Given the description of an element on the screen output the (x, y) to click on. 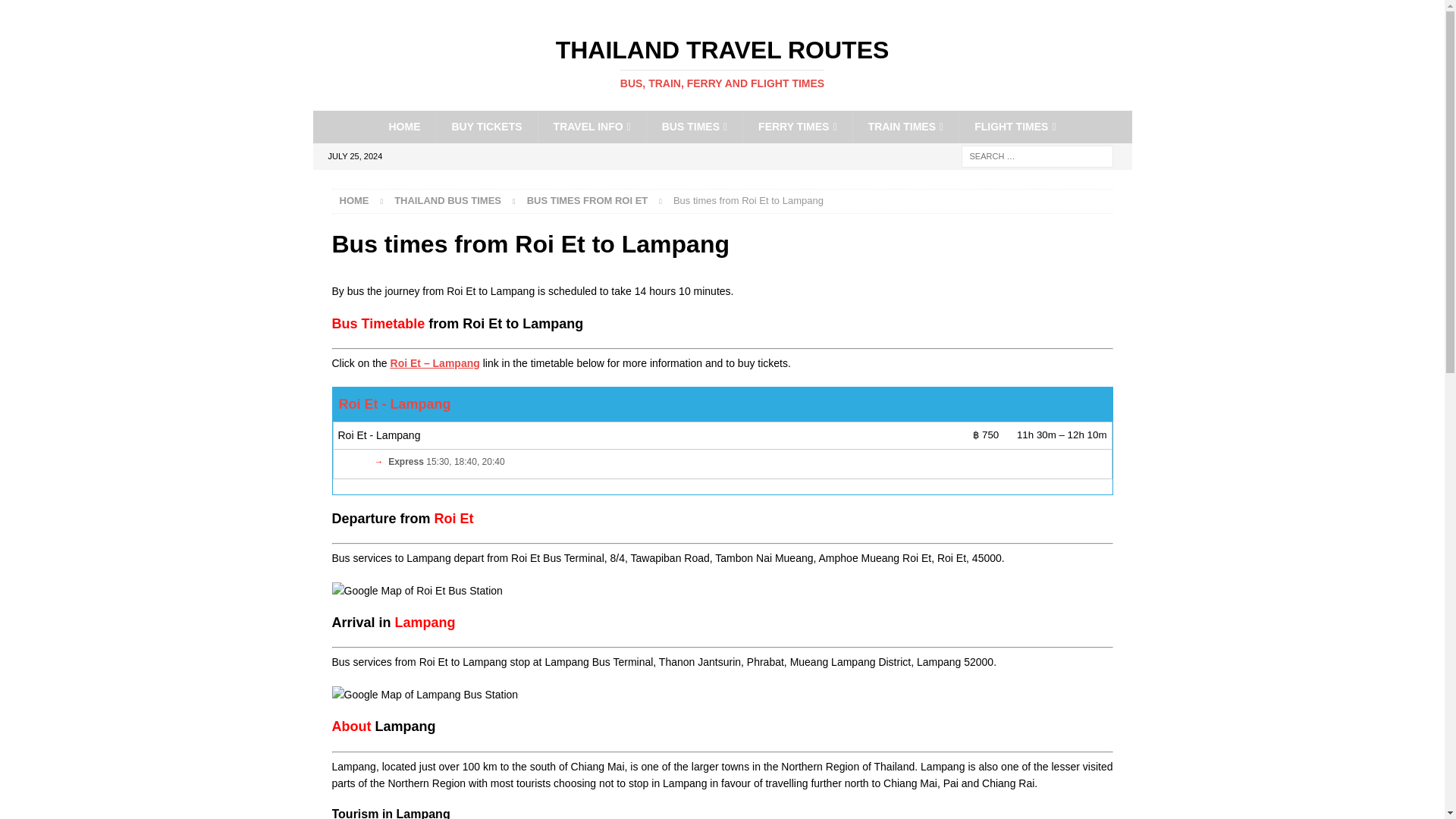
Thailand Travel Routes (722, 63)
Home (722, 63)
Bus times from Roi Et (354, 200)
